Given the description of an element on the screen output the (x, y) to click on. 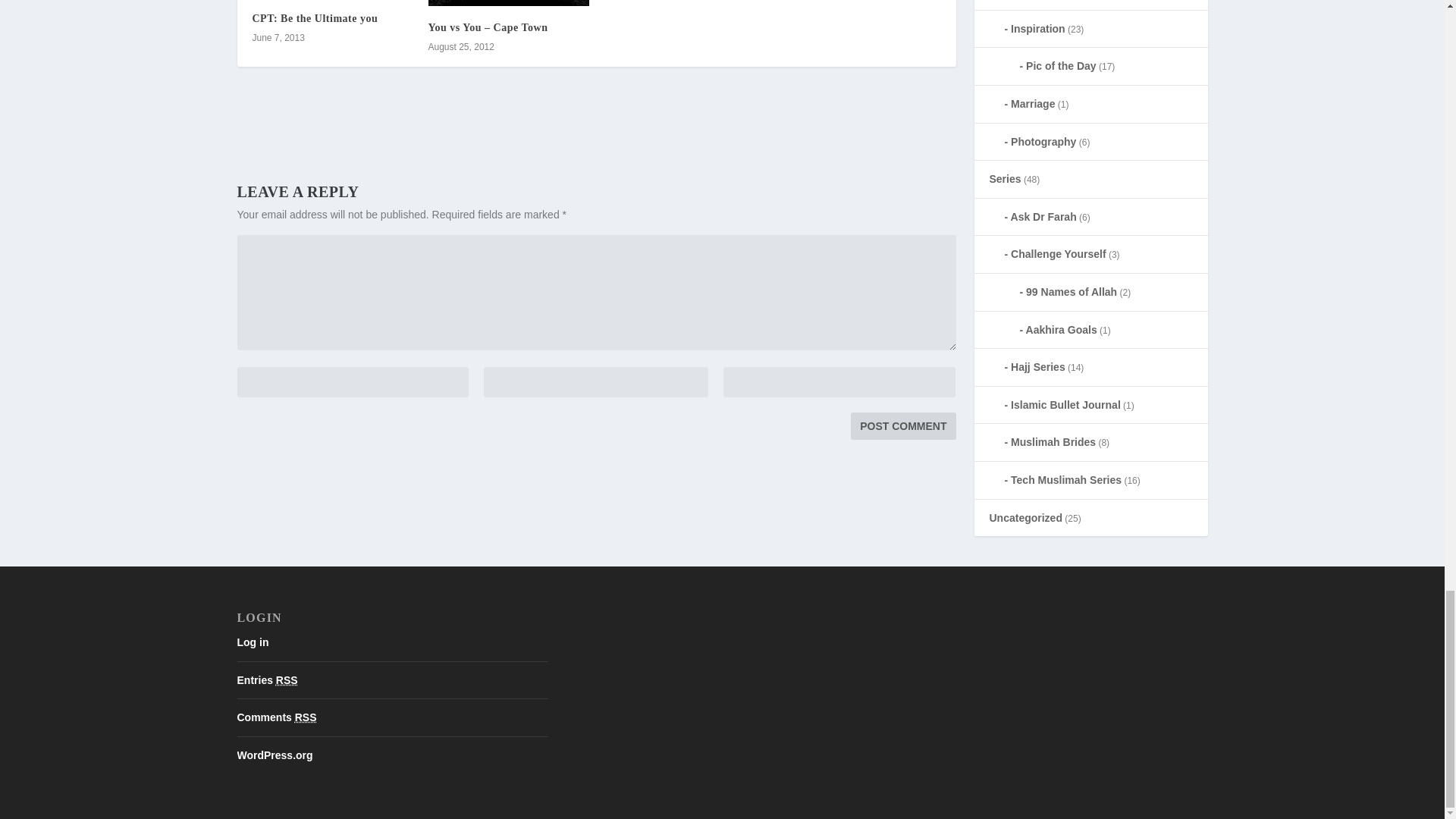
Post Comment (902, 425)
